Given the description of an element on the screen output the (x, y) to click on. 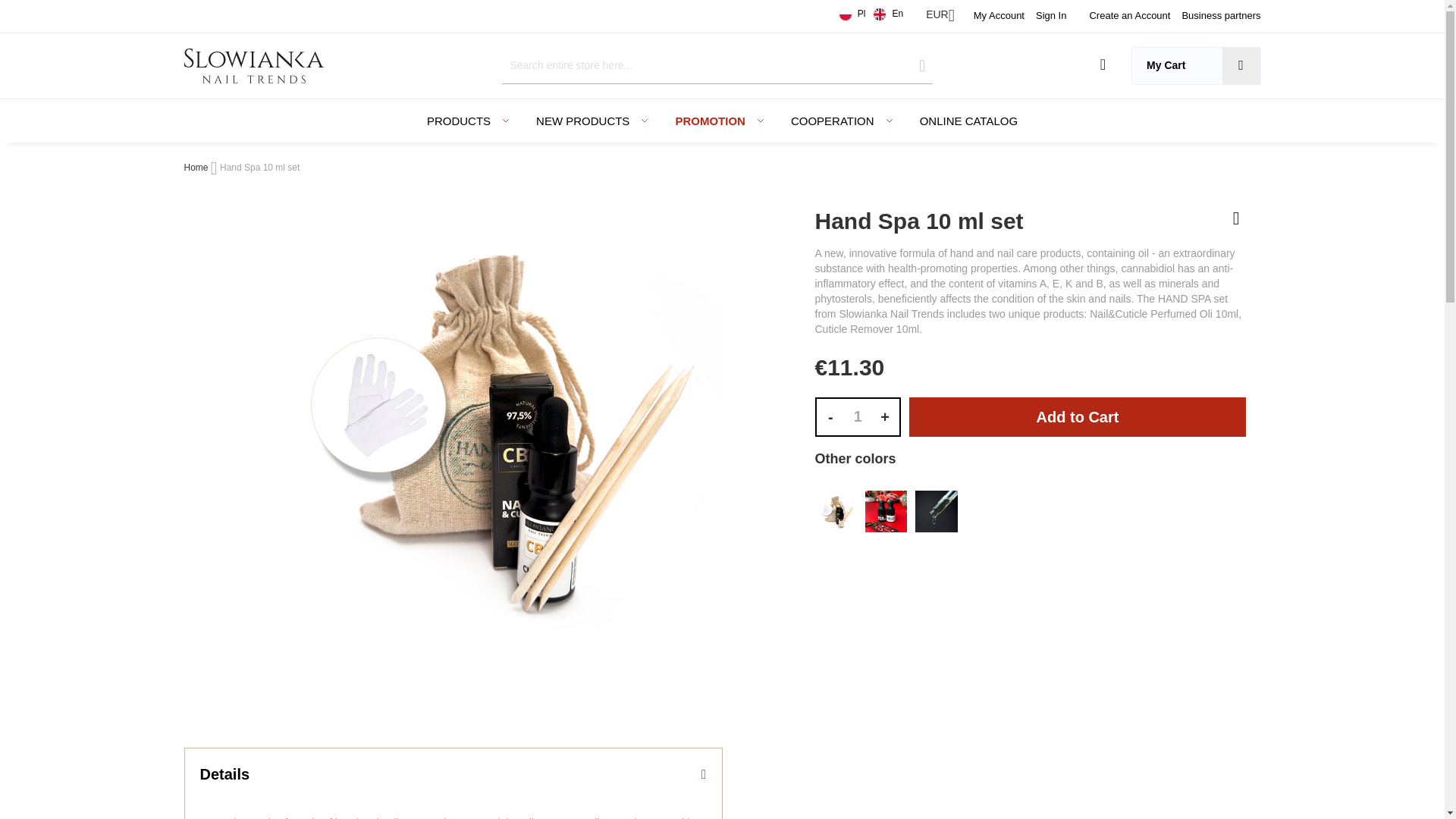
Create an Account (1129, 15)
Business partners (1220, 15)
Slowianka Nail Trends (253, 65)
Sign In (1050, 15)
Products (454, 120)
PRODUCTS (454, 120)
My Account (999, 15)
1 (857, 416)
My Cart (1195, 65)
